Given the description of an element on the screen output the (x, y) to click on. 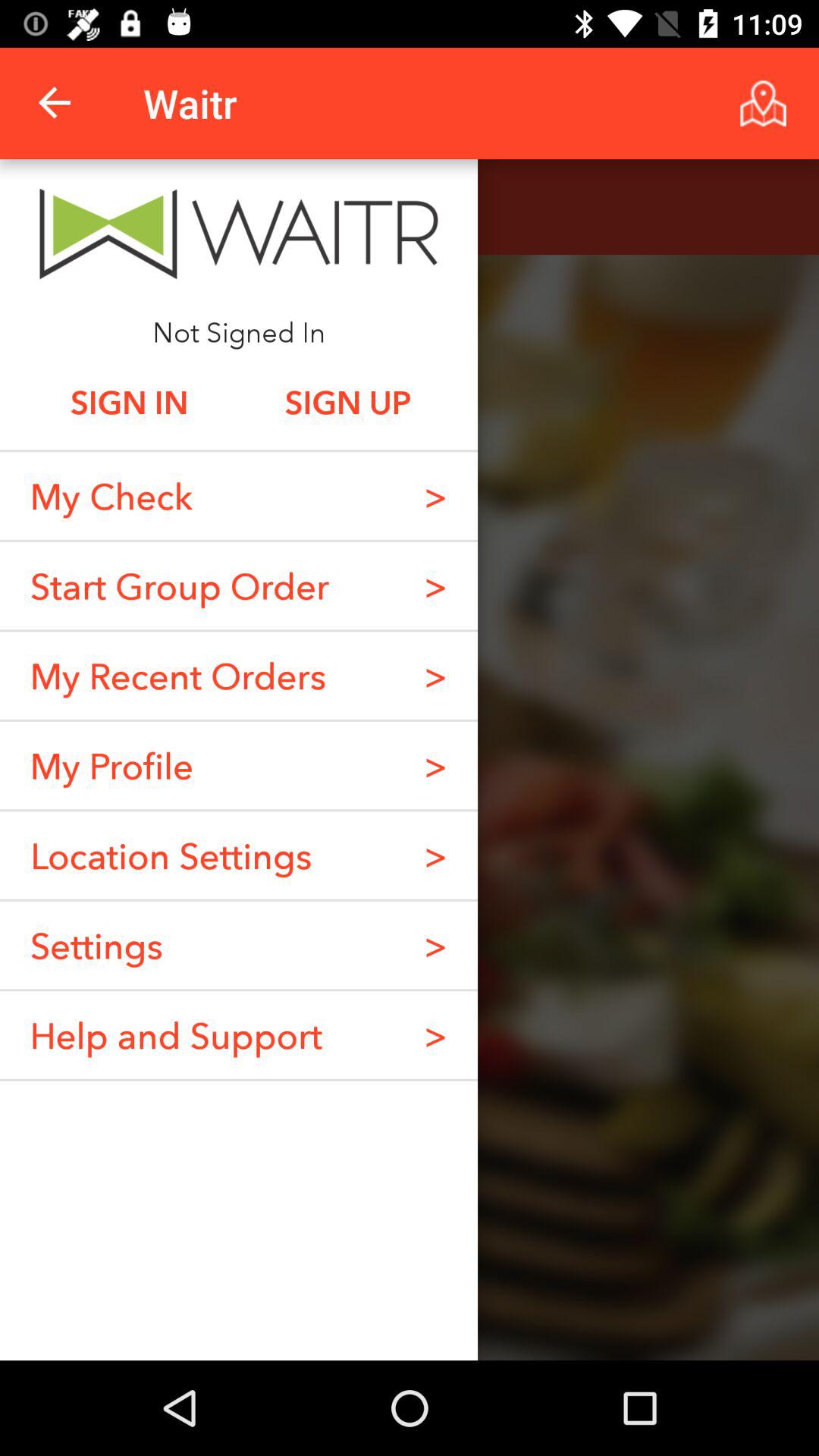
choose item next to the waitr (55, 103)
